Given the description of an element on the screen output the (x, y) to click on. 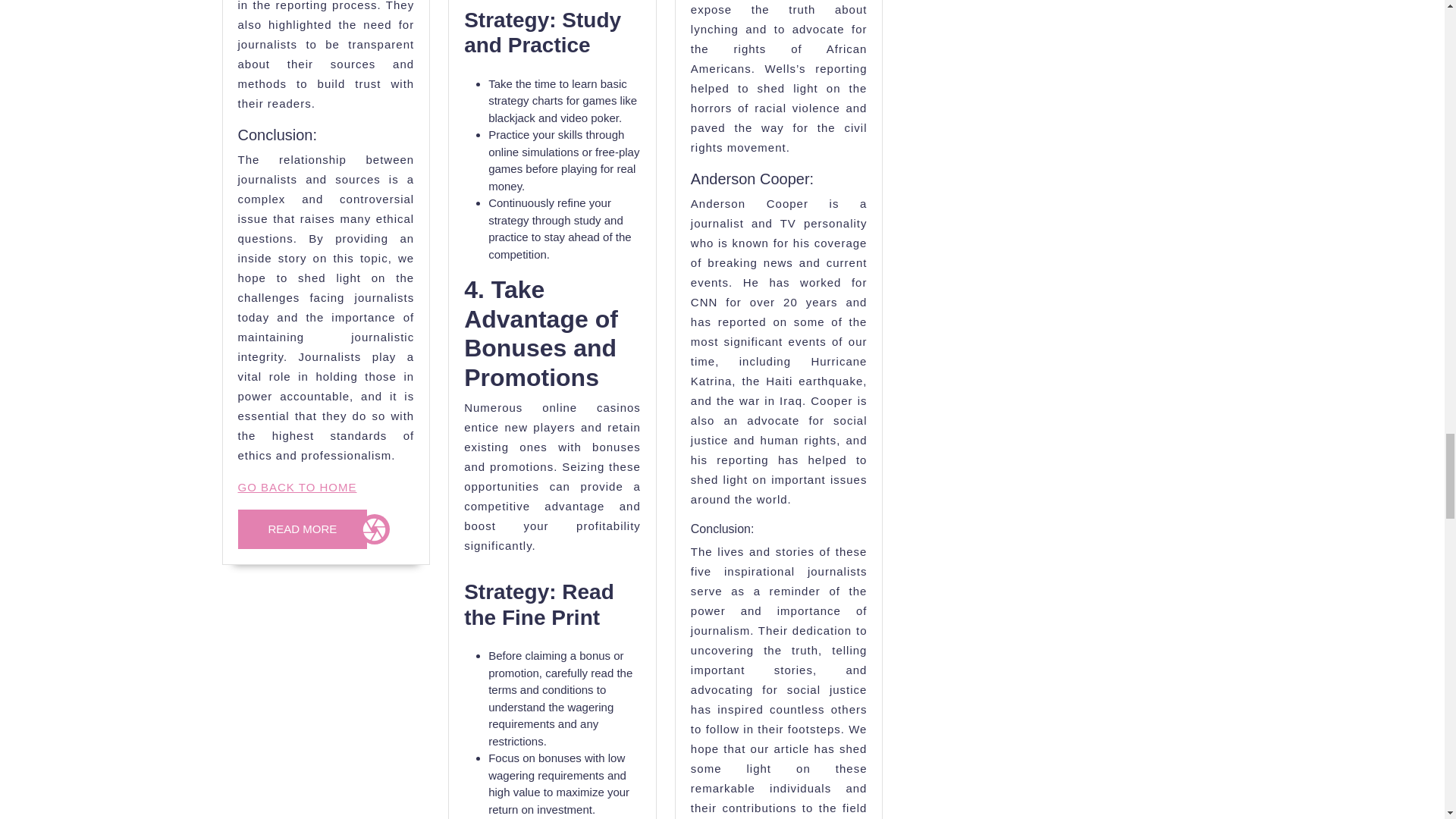
GO BACK TO HOME (303, 529)
